Given the description of an element on the screen output the (x, y) to click on. 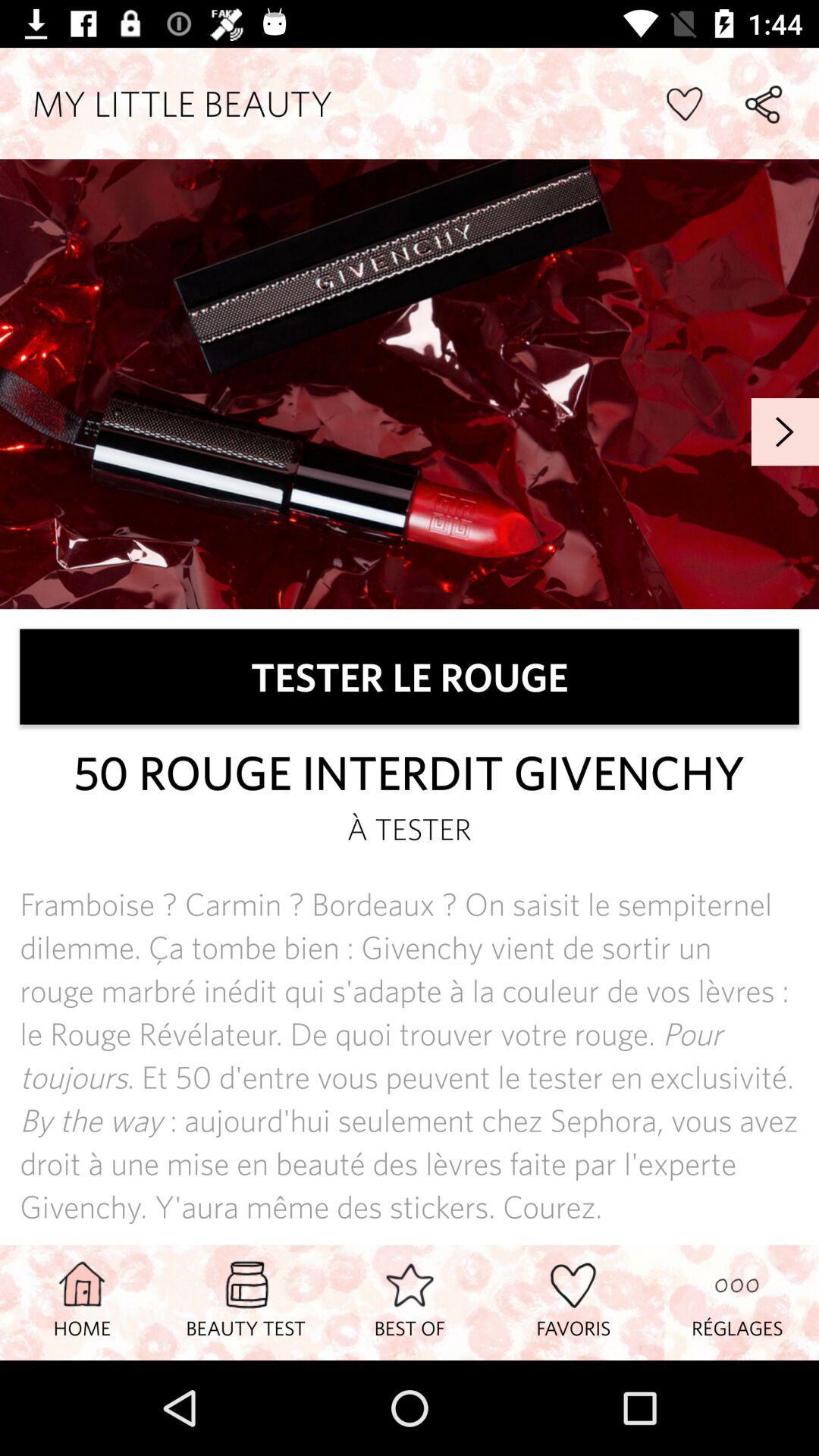
turn off the icon next to the favoris (737, 1302)
